Given the description of an element on the screen output the (x, y) to click on. 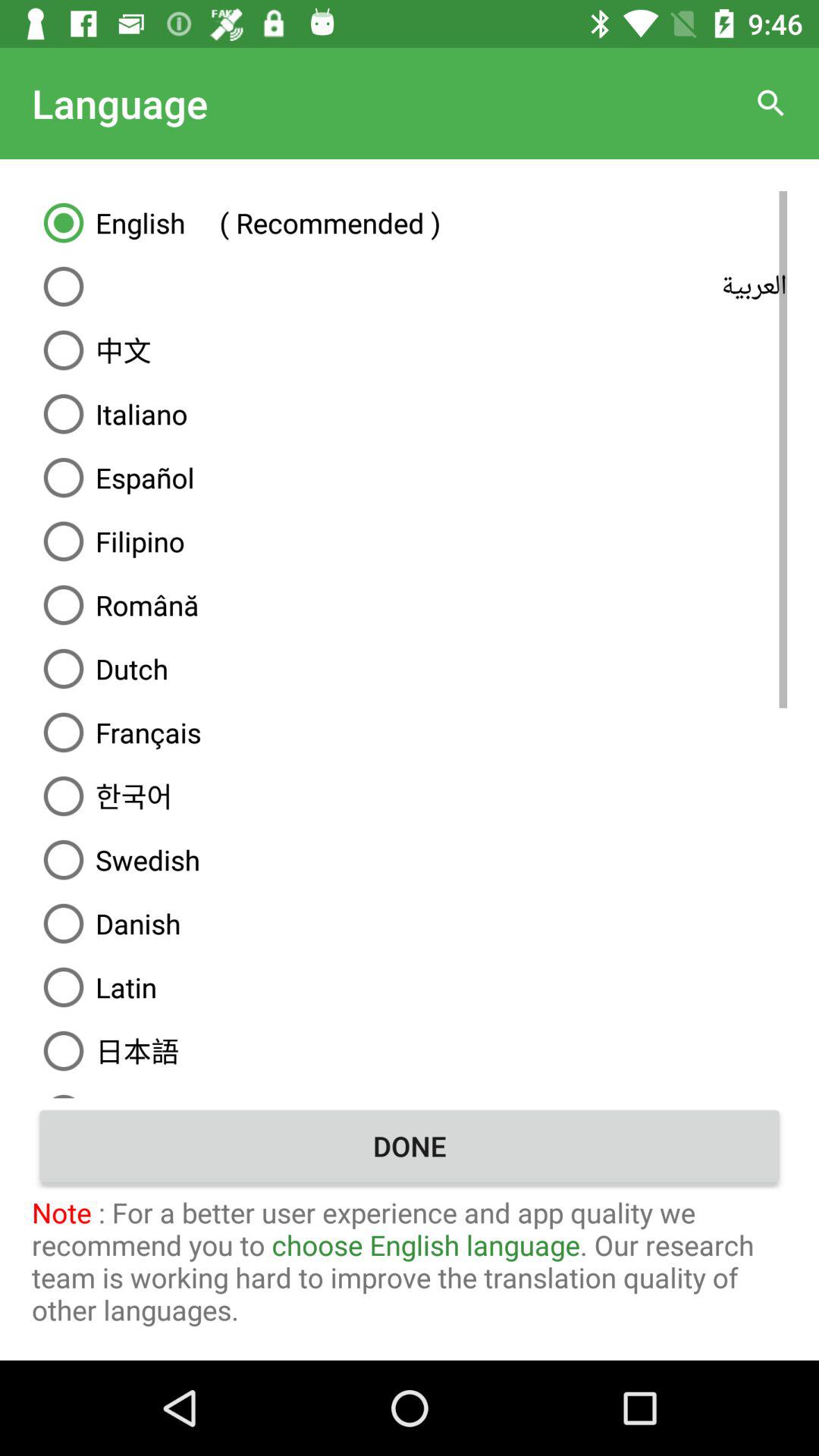
scroll until the english     ( recommended ) icon (409, 222)
